Given the description of an element on the screen output the (x, y) to click on. 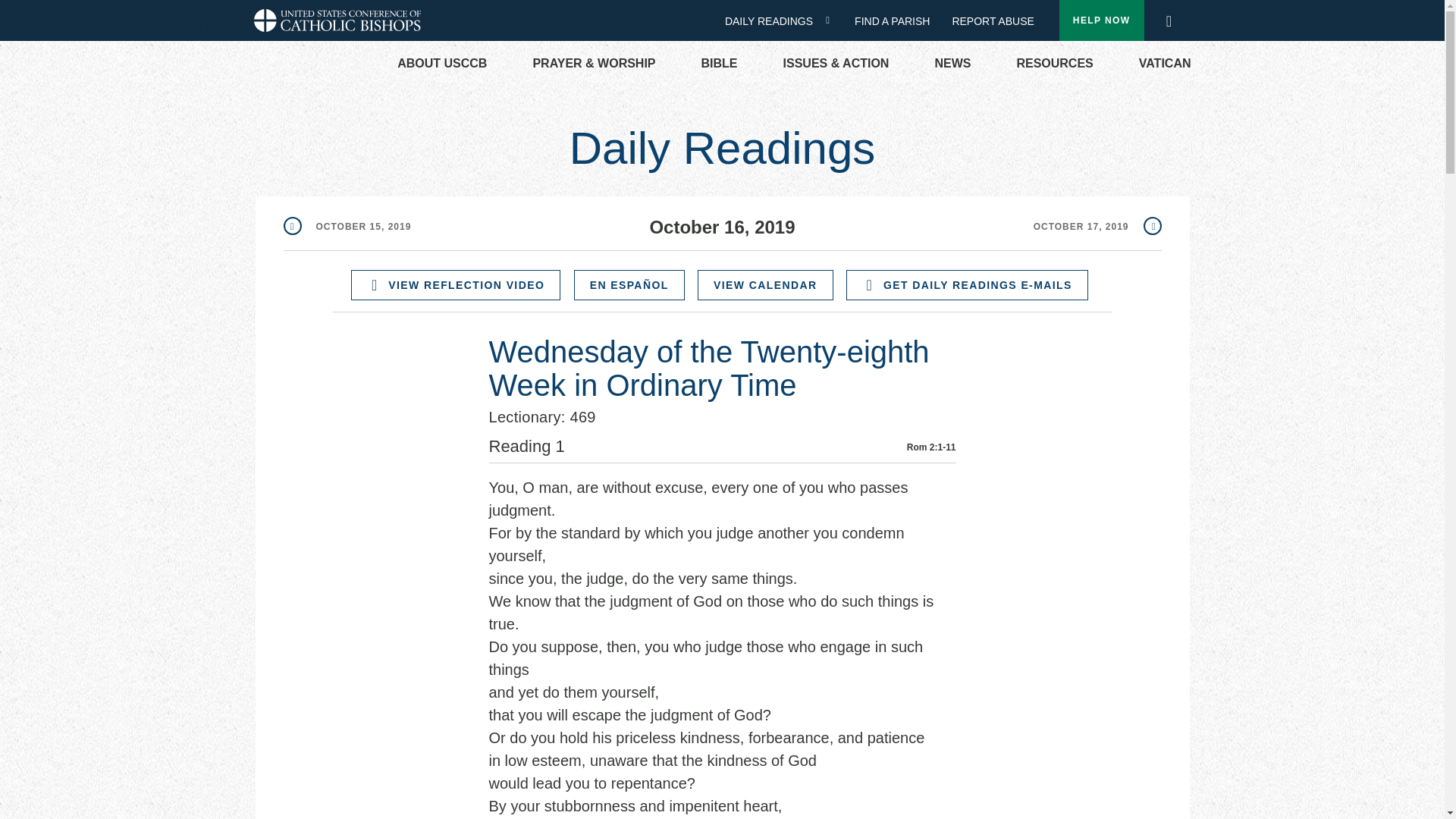
DAILY READINGS (774, 20)
REPORT ABUSE (992, 20)
Link list for Vatican website (1165, 62)
Search (1168, 16)
FIND A PARISH (897, 20)
Go (1173, 21)
DAILY READINGS CALENDAR (832, 20)
HELP NOW (1101, 20)
